Given the description of an element on the screen output the (x, y) to click on. 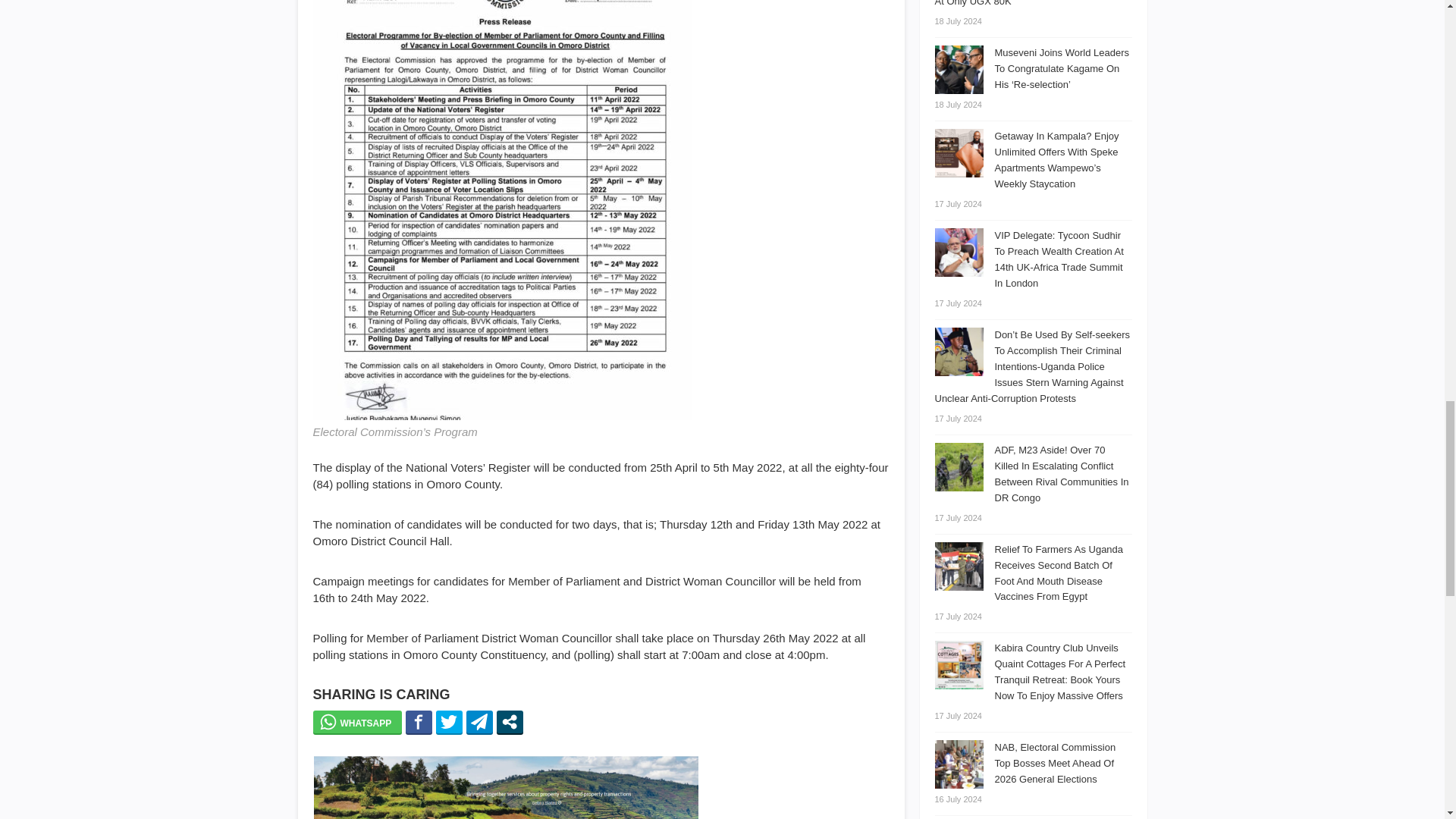
Tweet (449, 721)
Open modal social networks (509, 721)
Share on WhatsApp (357, 721)
Share on Telegram (479, 721)
Share on Facebook (419, 721)
